Given the description of an element on the screen output the (x, y) to click on. 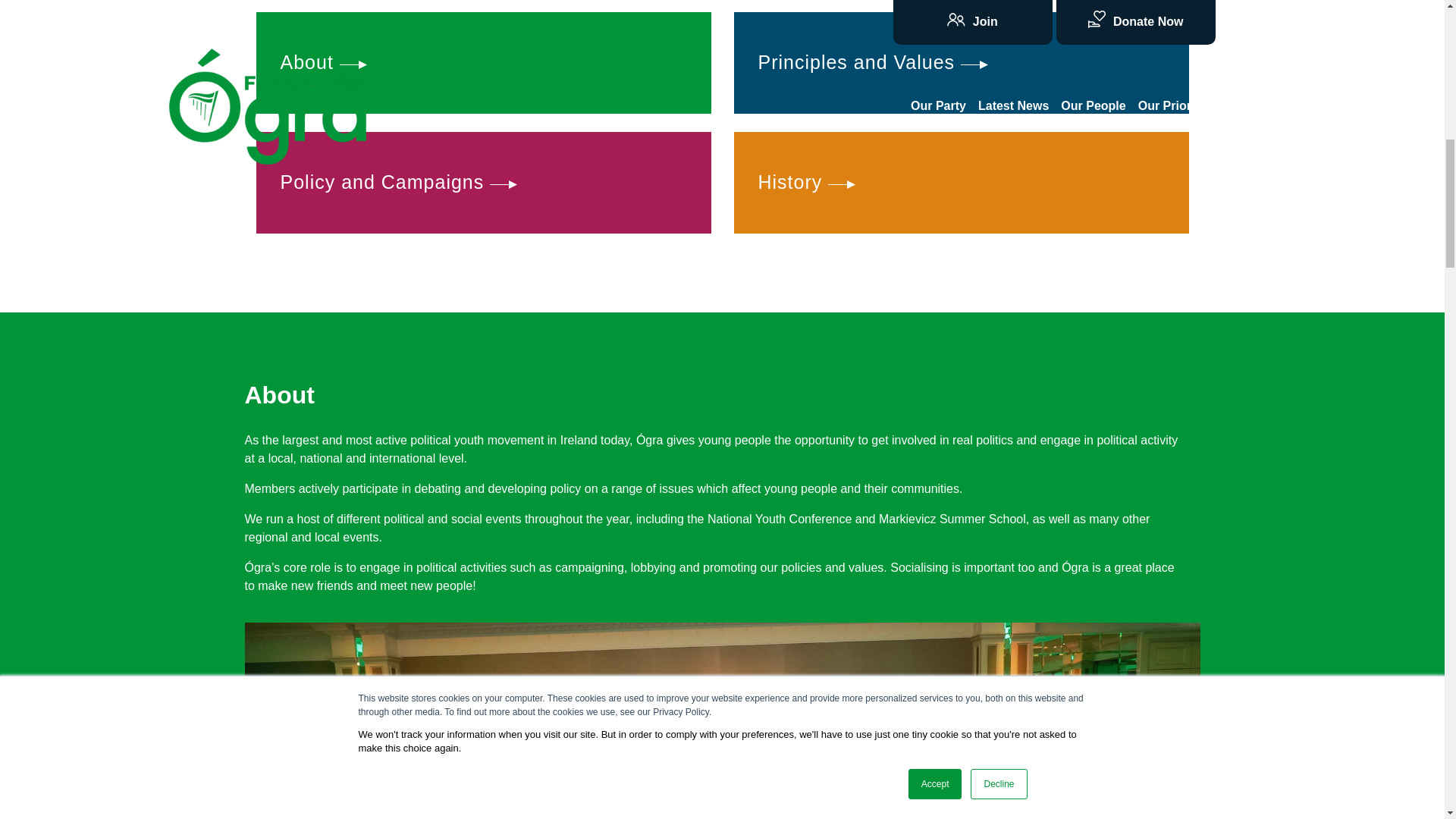
History (961, 182)
Principles and Values (961, 62)
About (483, 62)
Policy and Campaigns (483, 182)
